Given the description of an element on the screen output the (x, y) to click on. 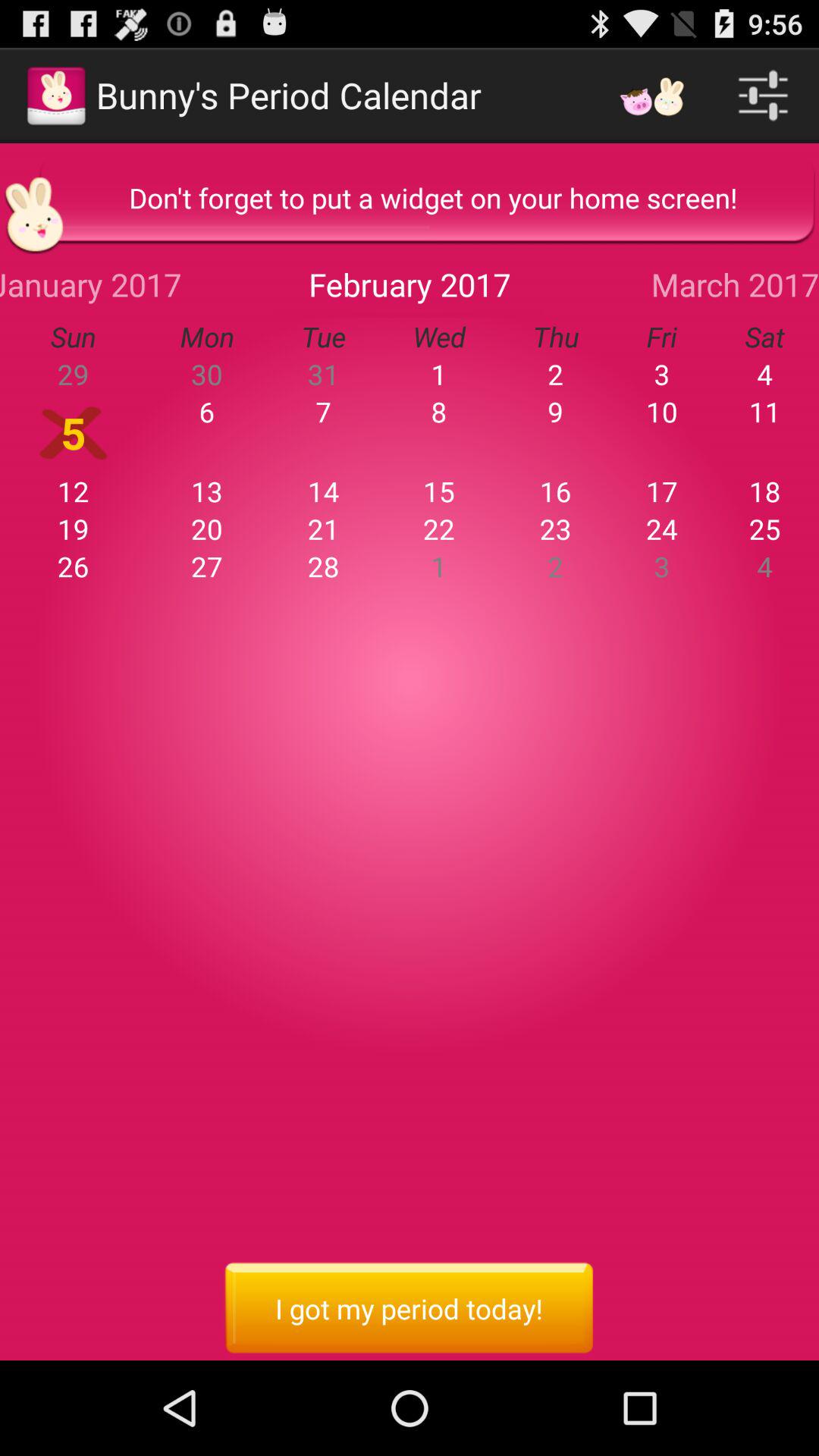
click icon to the left of 18 item (661, 491)
